Given the description of an element on the screen output the (x, y) to click on. 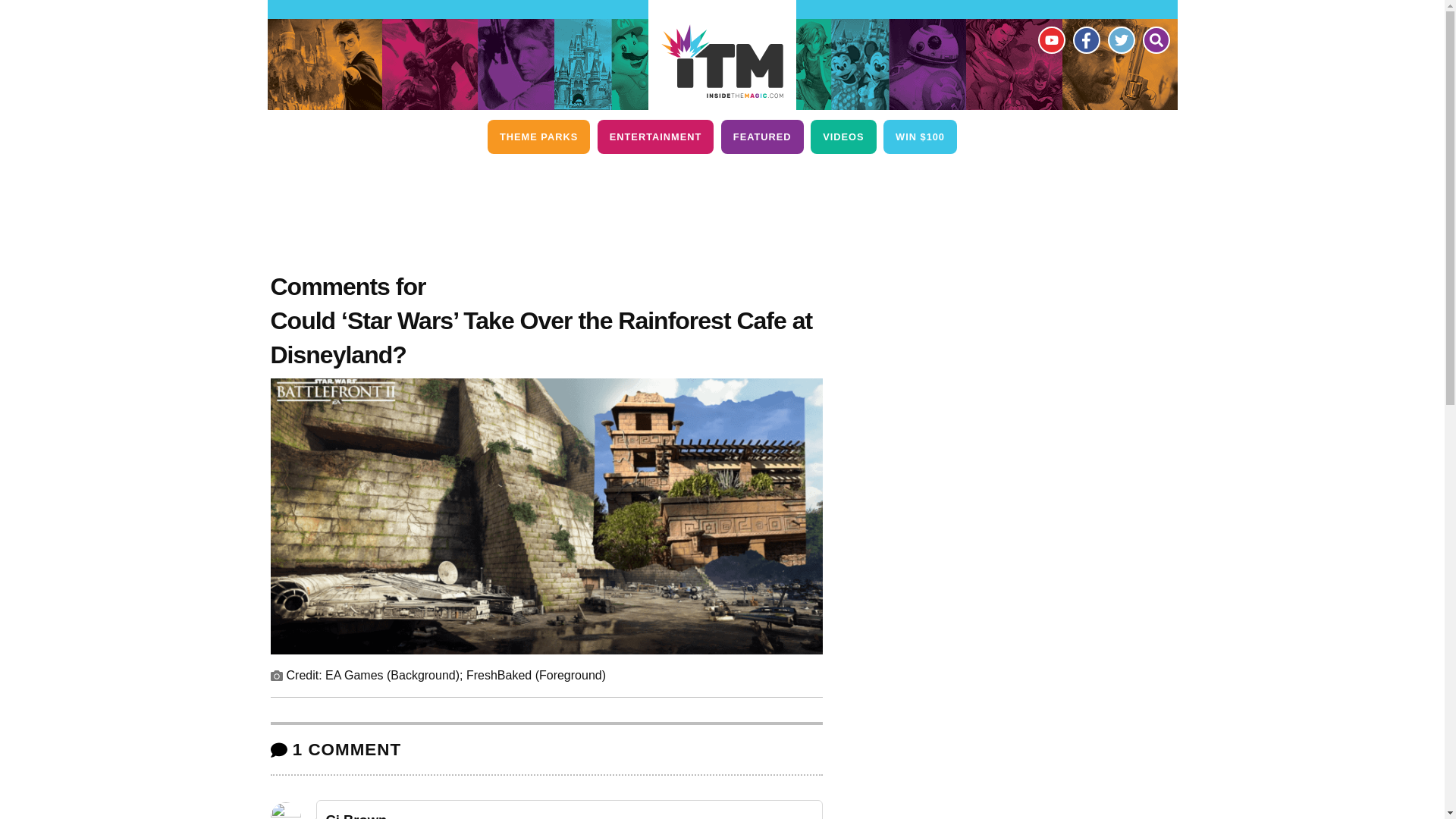
Twitter (1120, 40)
FEATURED (761, 136)
ENTERTAINMENT (655, 136)
Facebook (1085, 40)
THEME PARKS (538, 136)
YouTube (1050, 40)
Search (1155, 40)
